Given the description of an element on the screen output the (x, y) to click on. 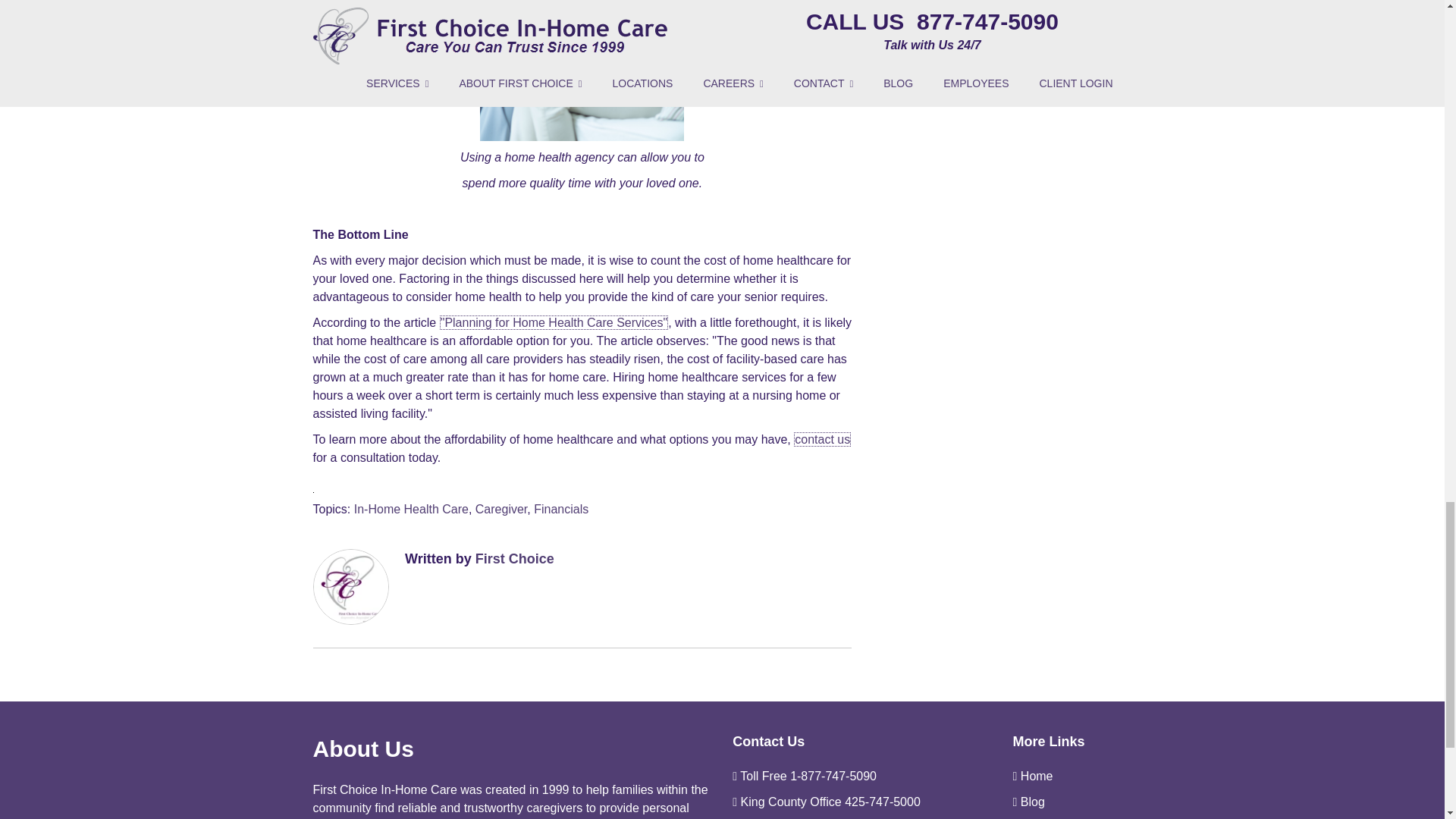
Caregiver (501, 508)
In-Home Health Care (410, 508)
contact us (821, 439)
"Planning for Home Health Care Services" (553, 322)
Home health care (582, 70)
Financials (561, 508)
First Choice (515, 557)
